Given the description of an element on the screen output the (x, y) to click on. 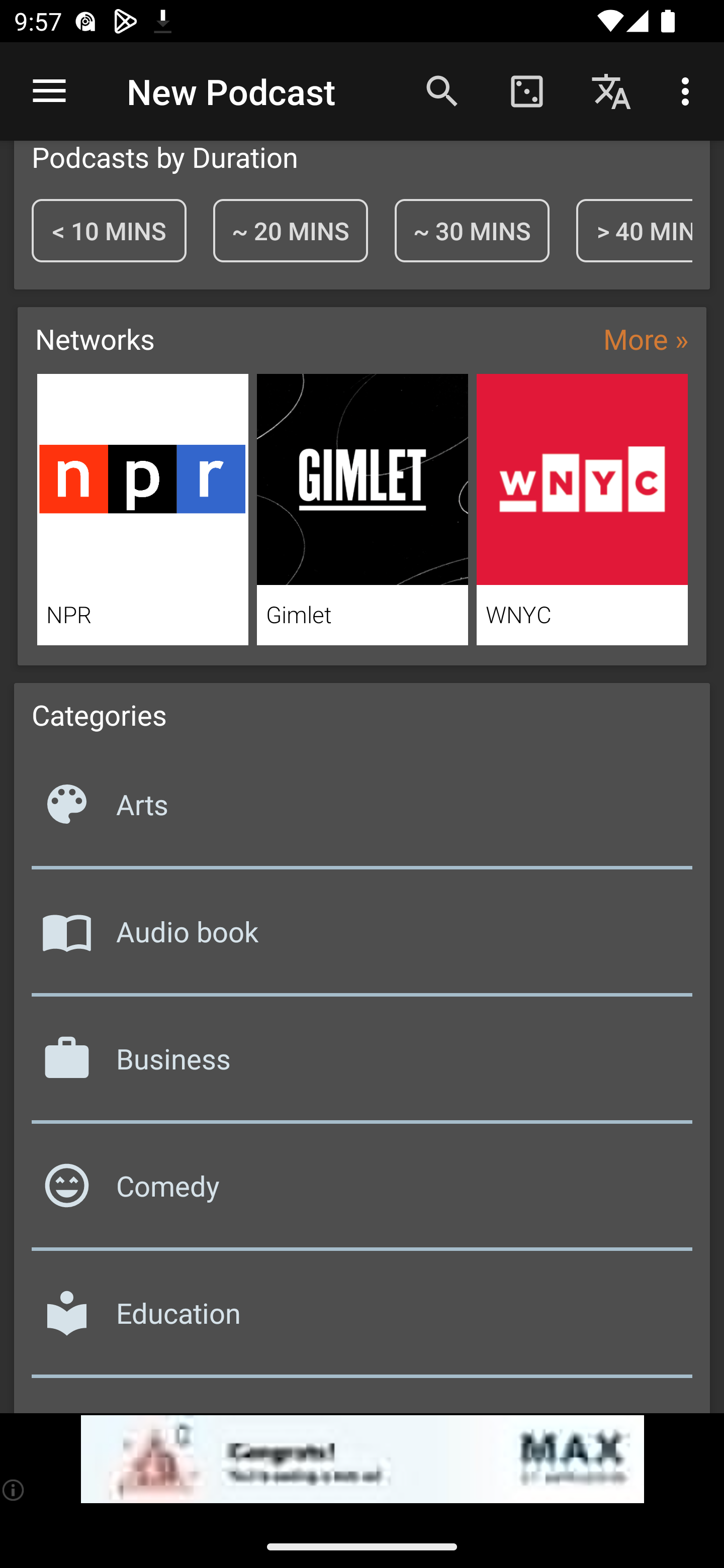
Open navigation sidebar (49, 91)
Search (442, 90)
Random pick (526, 90)
Podcast languages (611, 90)
More options (688, 90)
< 10 MINS (108, 230)
~ 20 MINS (289, 230)
~ 30 MINS (471, 230)
> 40 MINS (634, 230)
More » (645, 338)
NPR (142, 509)
Gimlet (362, 509)
WNYC (581, 509)
Arts (361, 810)
Audio book (361, 937)
Business (361, 1064)
Comedy (361, 1191)
Education (361, 1318)
app-monetization (362, 1459)
(i) (14, 1489)
